Given the description of an element on the screen output the (x, y) to click on. 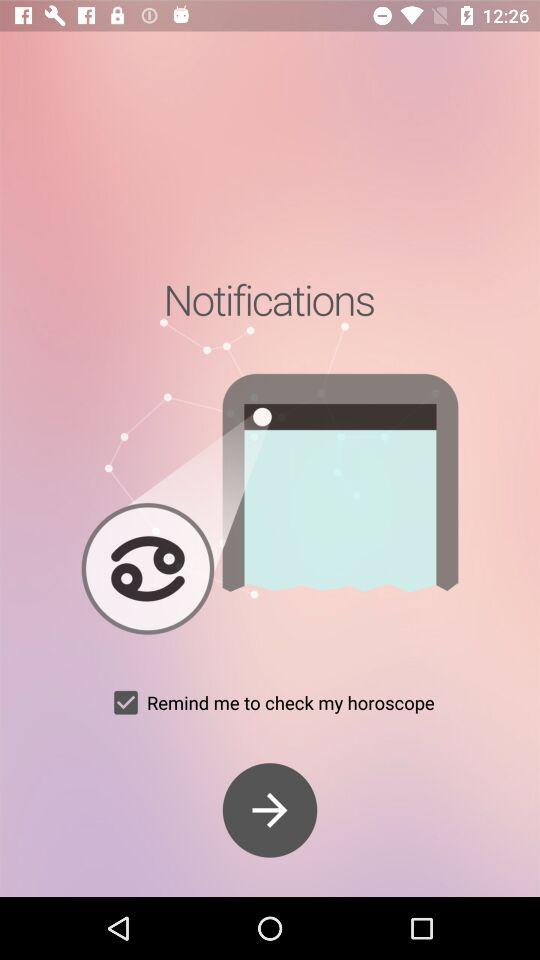
go forward (269, 810)
